Given the description of an element on the screen output the (x, y) to click on. 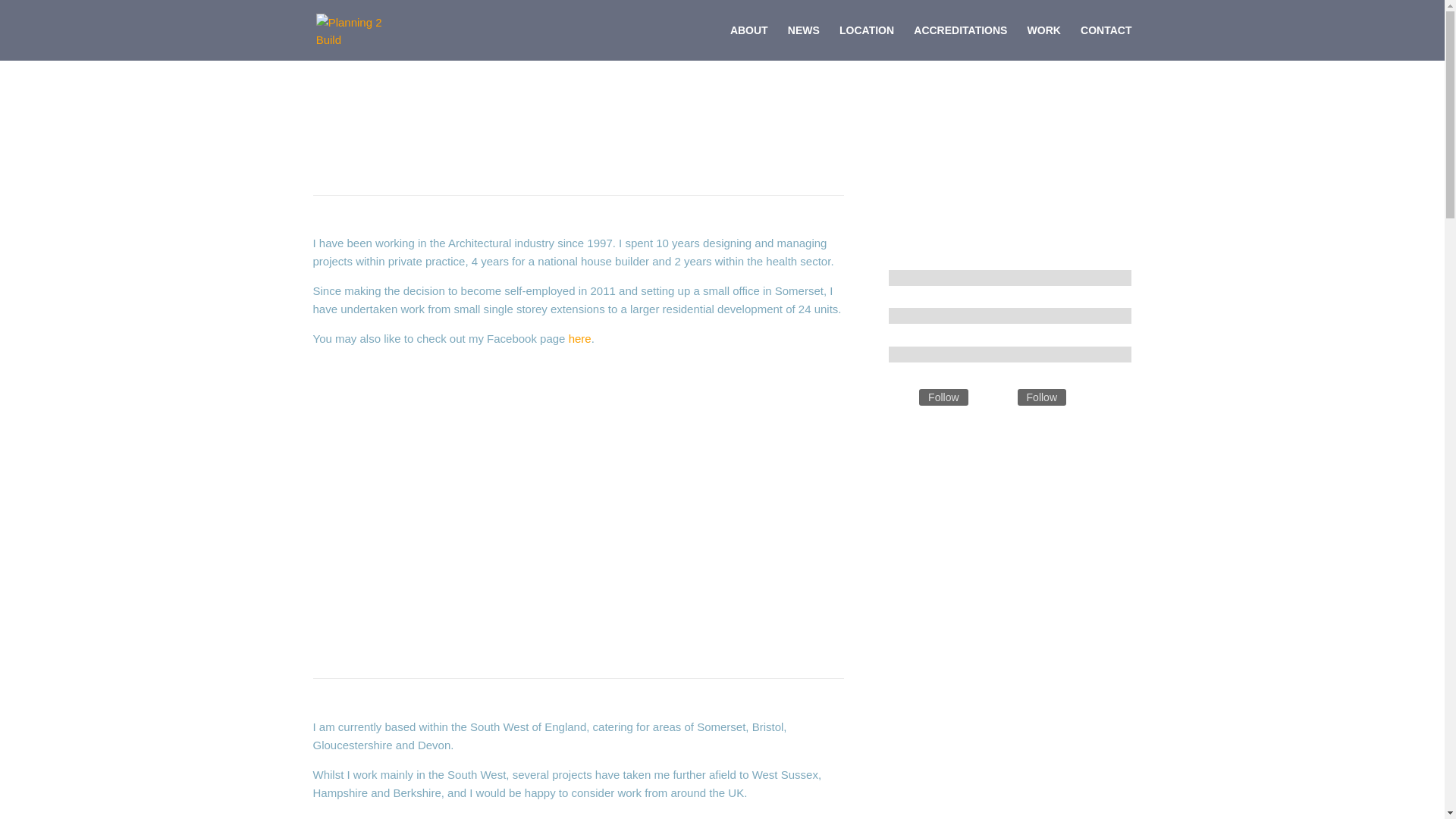
CONTACT (1105, 42)
LOCATION (866, 42)
NEWS (803, 42)
ABOUT (749, 42)
here (580, 338)
LinkedIn (1041, 396)
Facebook (943, 396)
Follow (943, 396)
ACCREDITATIONS (960, 42)
WORK (1044, 42)
Follow (1041, 396)
Follow on LinkedIn (999, 397)
Follow on Facebook (900, 397)
